Given the description of an element on the screen output the (x, y) to click on. 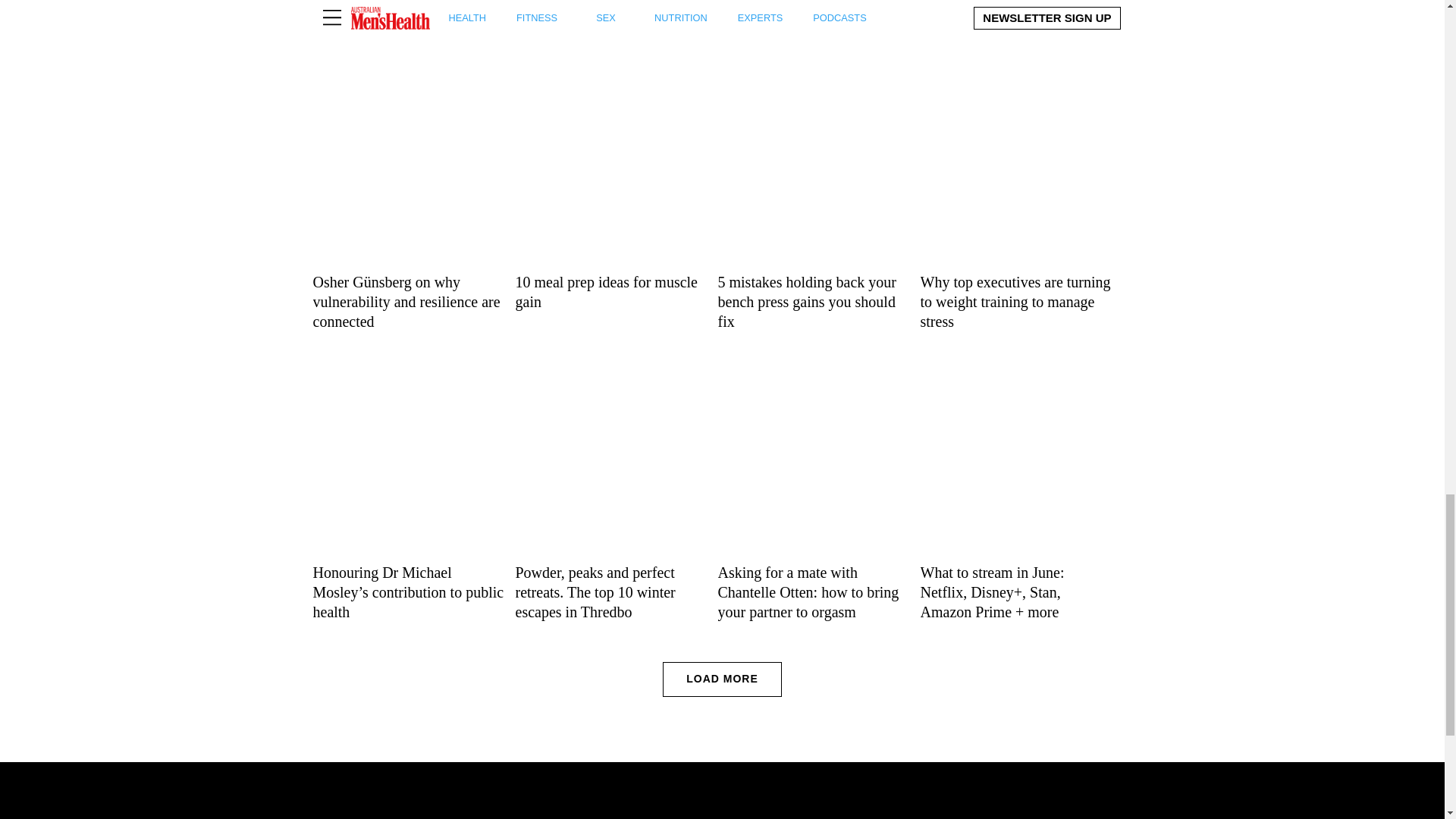
Follow on LinkedIn (712, 816)
Follow on Facebook (621, 816)
Follow on Instagram (681, 816)
Follow on X (651, 816)
